Given the description of an element on the screen output the (x, y) to click on. 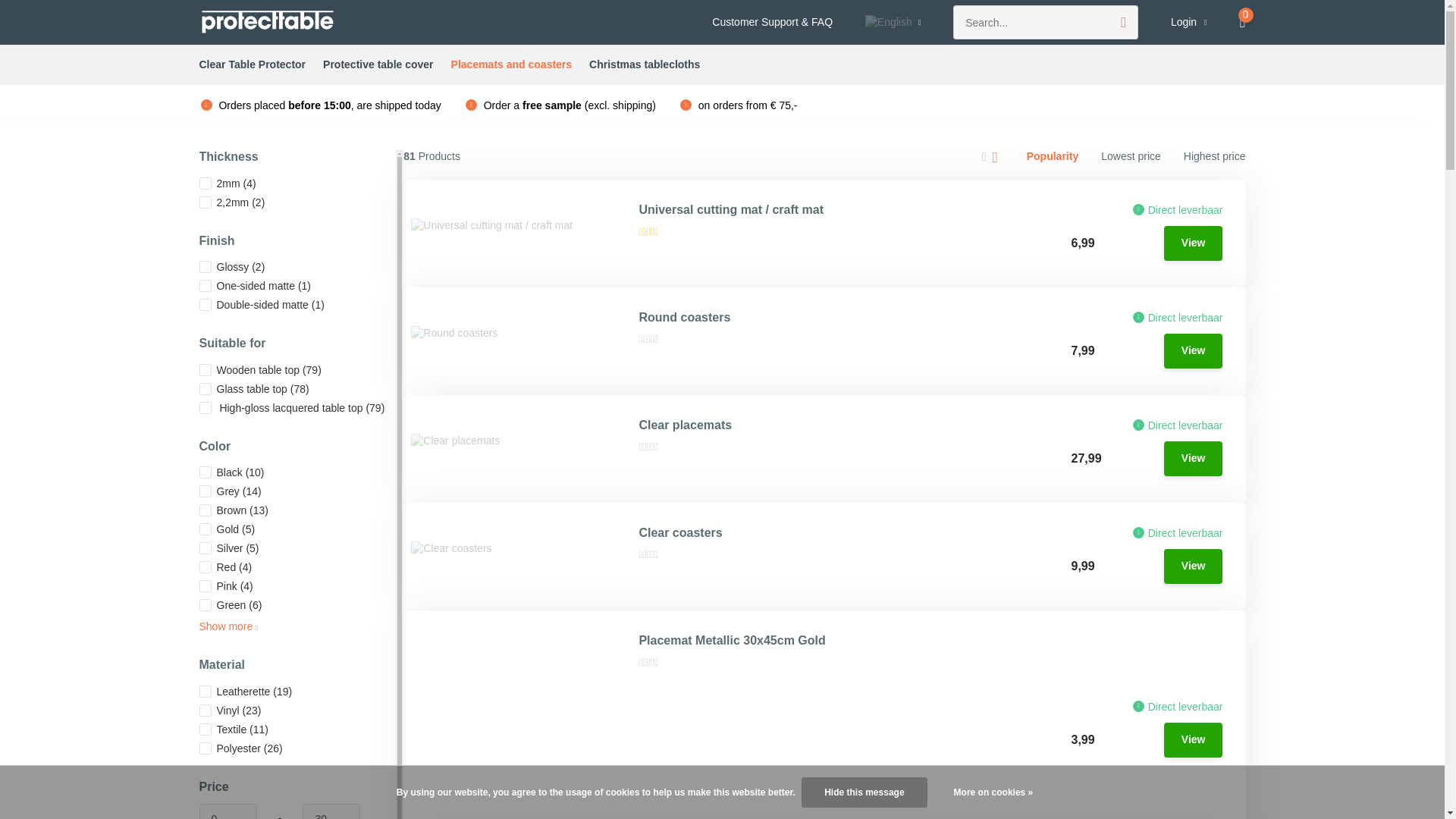
Protective table cover (378, 65)
Clear Table Protector (251, 65)
Protective table cover (378, 65)
Clear Table Protector (251, 65)
Login (1188, 22)
Christmas tablecloths (644, 65)
Placemats and coasters (511, 65)
0 (227, 811)
Christmas tablecloths (644, 65)
30 (330, 811)
